Given the description of an element on the screen output the (x, y) to click on. 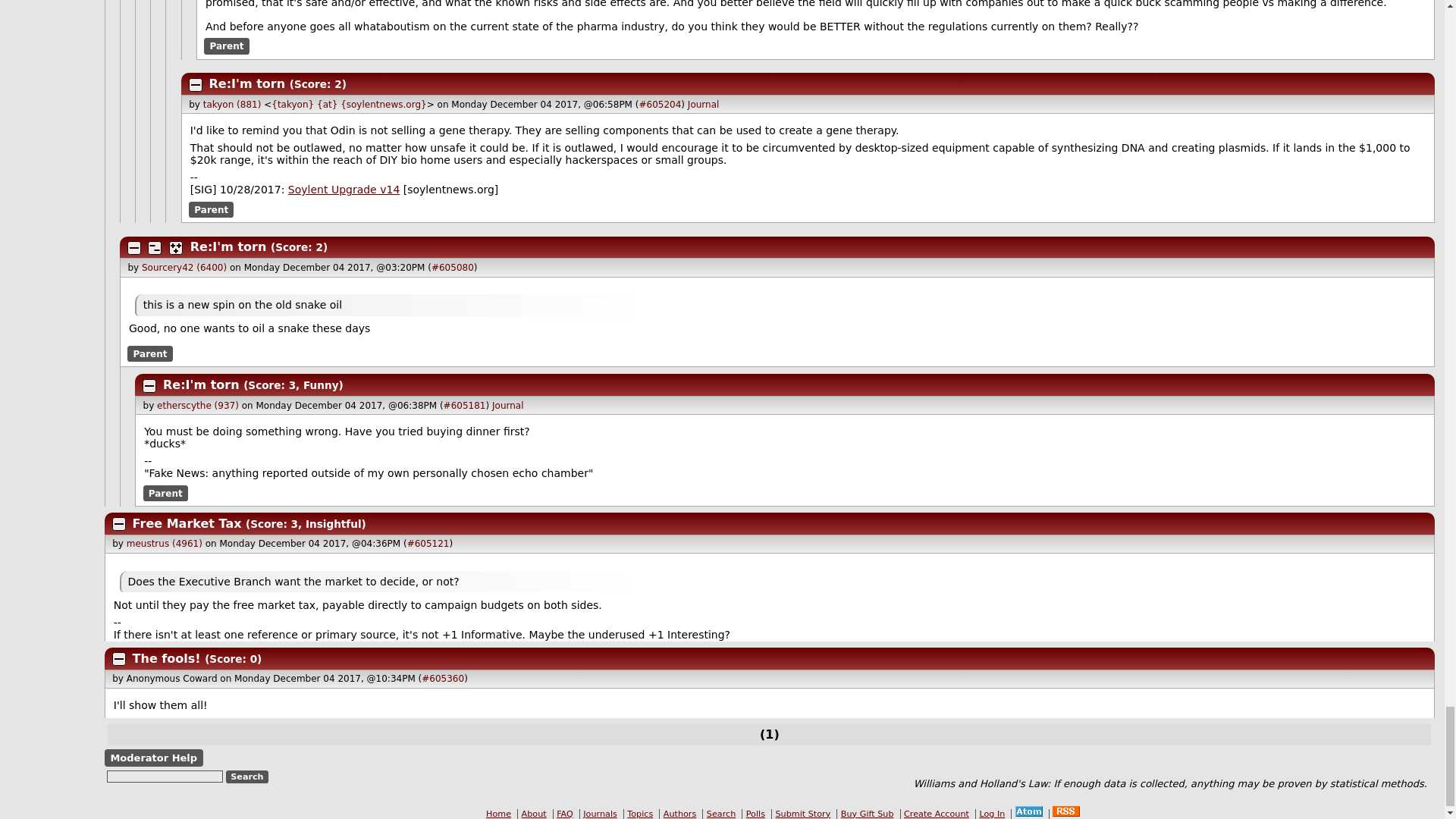
Search (247, 776)
